Given the description of an element on the screen output the (x, y) to click on. 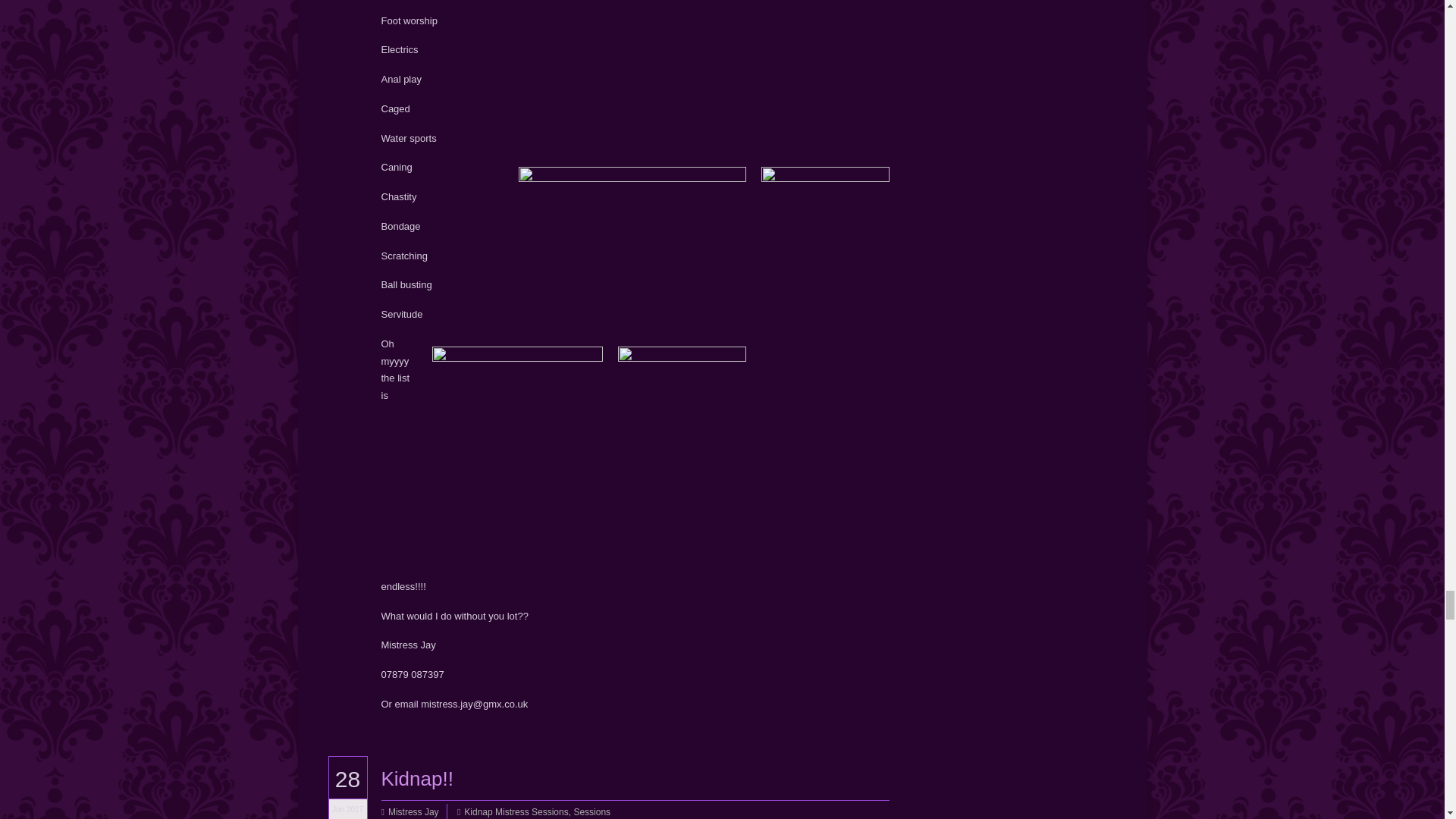
Posts by Mistress Jay (413, 811)
